Given the description of an element on the screen output the (x, y) to click on. 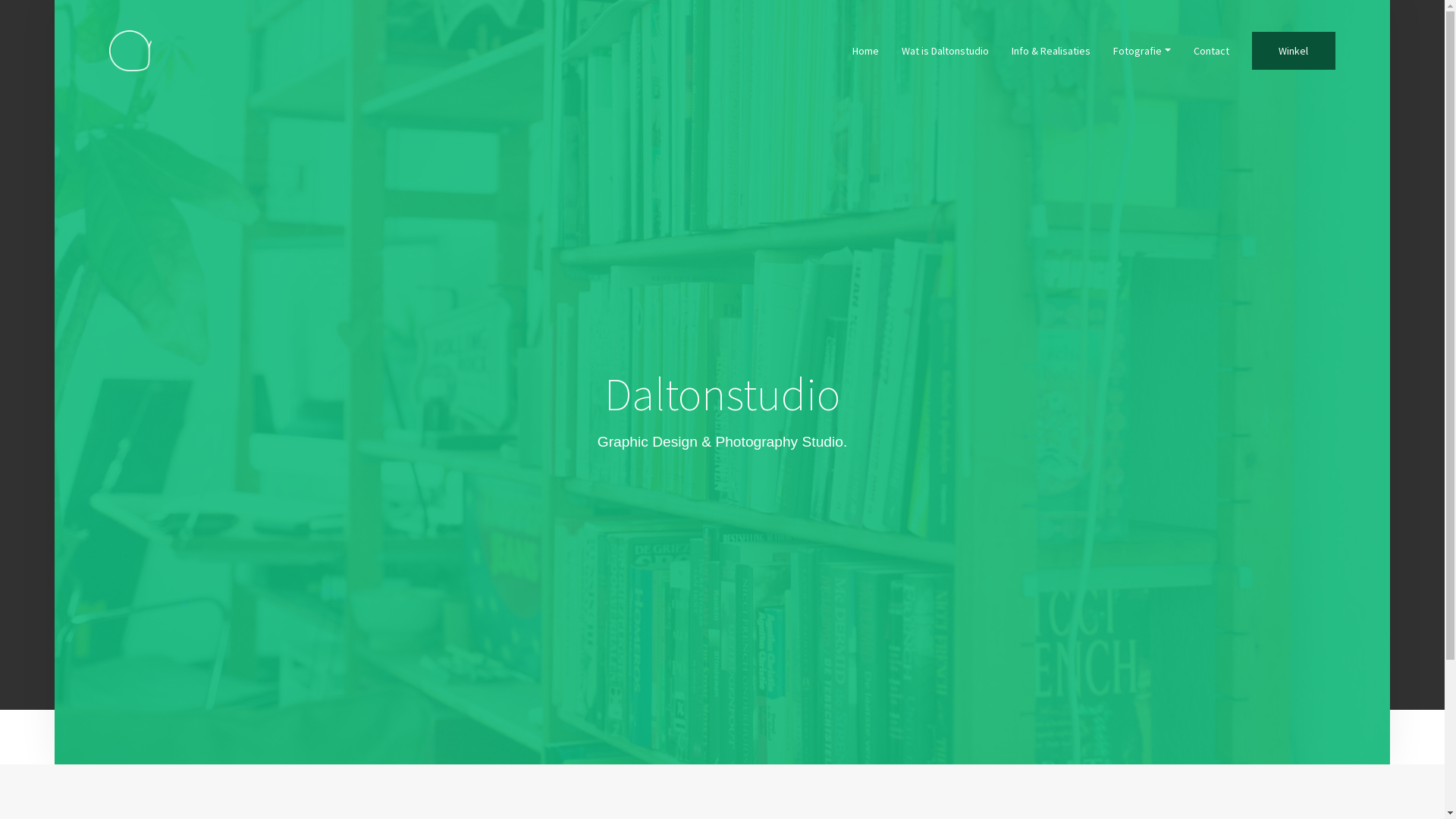
Fotografie Element type: text (1141, 50)
Wat is Daltonstudio Element type: text (944, 50)
Contact Element type: text (1211, 50)
Home Element type: text (865, 50)
Info & Realisaties Element type: text (1050, 50)
Winkel Element type: text (1293, 50)
